Given the description of an element on the screen output the (x, y) to click on. 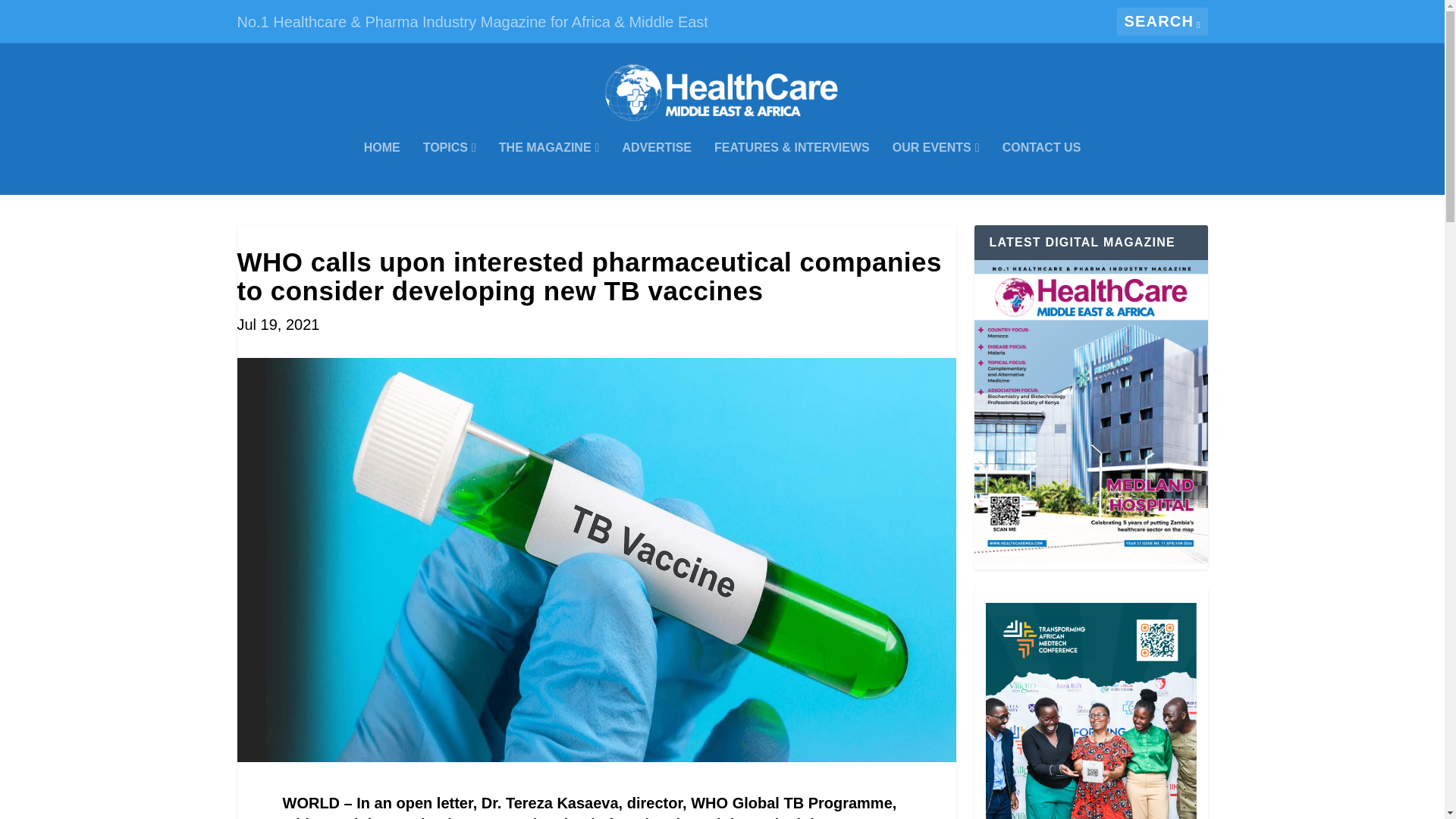
Search for: (1161, 21)
CONTACT US (1042, 167)
THE MAGAZINE (549, 167)
ADVERTISE (656, 167)
TOPICS (449, 167)
OUR EVENTS (935, 167)
OUR EVENTS (935, 167)
